Given the description of an element on the screen output the (x, y) to click on. 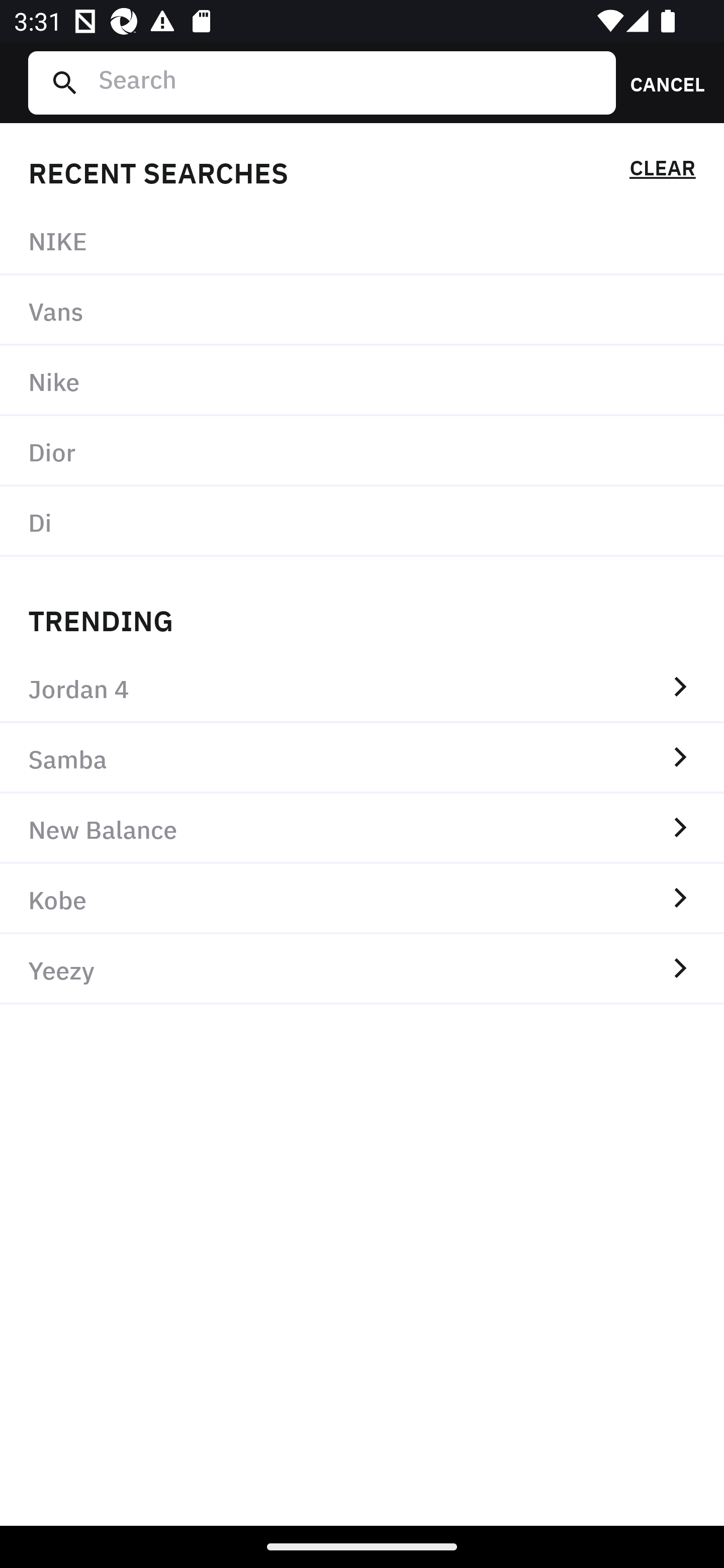
CANCEL (660, 82)
Search (349, 82)
CLEAR (662, 170)
NIKE (362, 240)
Vans (362, 310)
Nike (362, 380)
Dior (362, 450)
Di (362, 521)
Jordan 4  (362, 687)
Samba  (362, 757)
New Balance  (362, 828)
Kobe  (362, 898)
Yeezy  (362, 969)
